Given the description of an element on the screen output the (x, y) to click on. 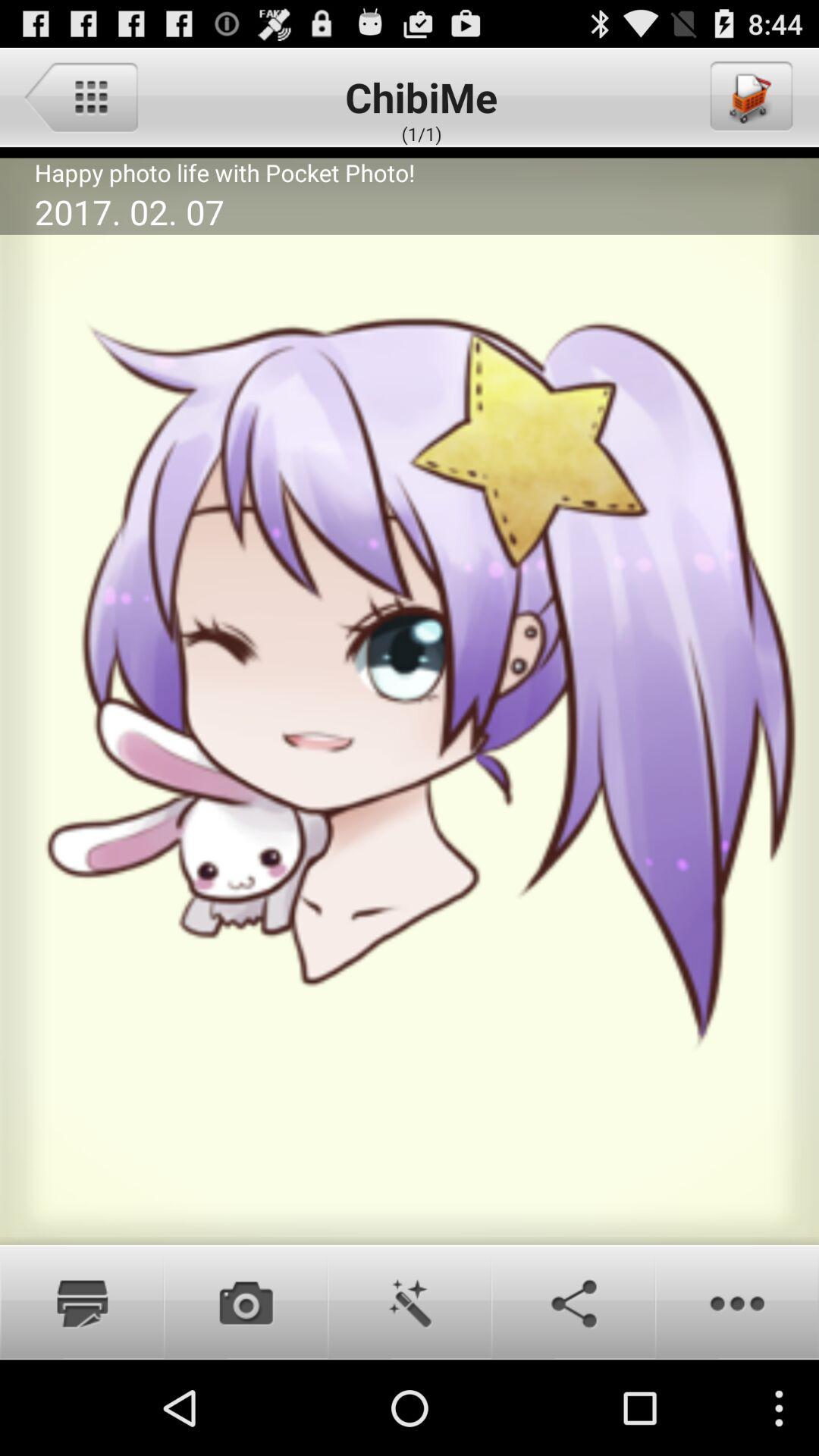
open the app next to the chibime (749, 96)
